Given the description of an element on the screen output the (x, y) to click on. 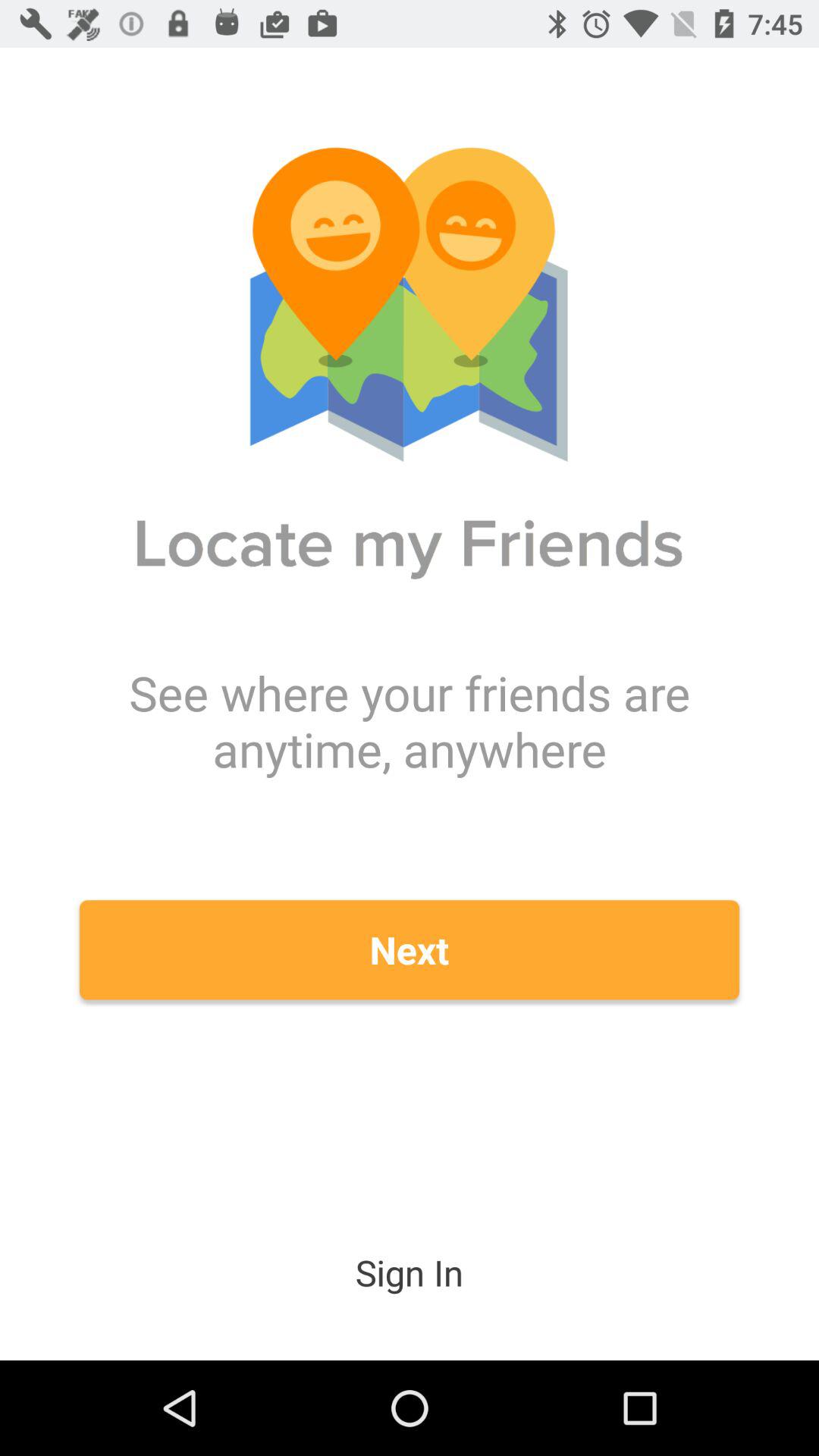
select sign in icon (409, 1272)
